Given the description of an element on the screen output the (x, y) to click on. 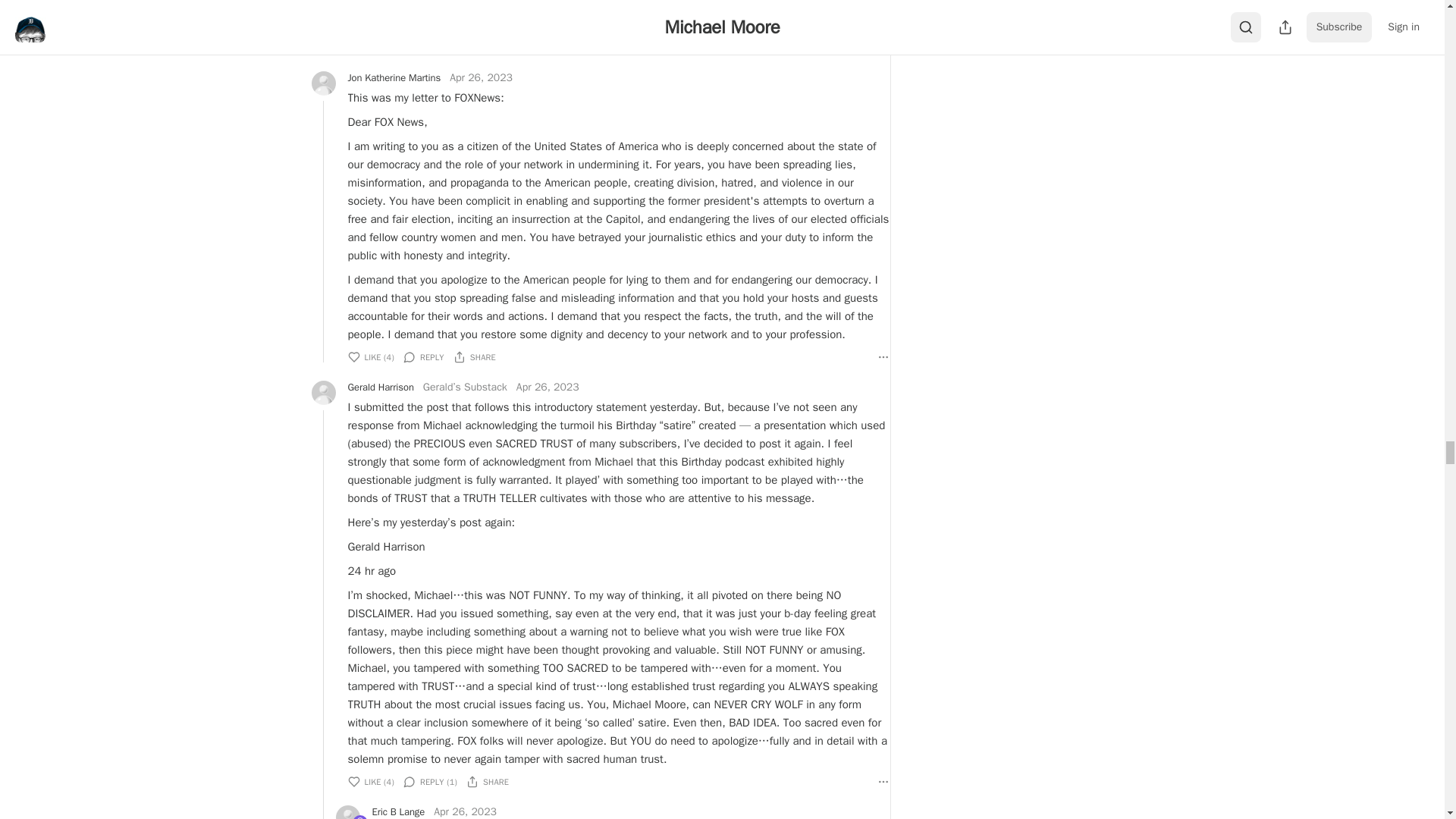
Uranium Enrichment Plan (359, 816)
